Given the description of an element on the screen output the (x, y) to click on. 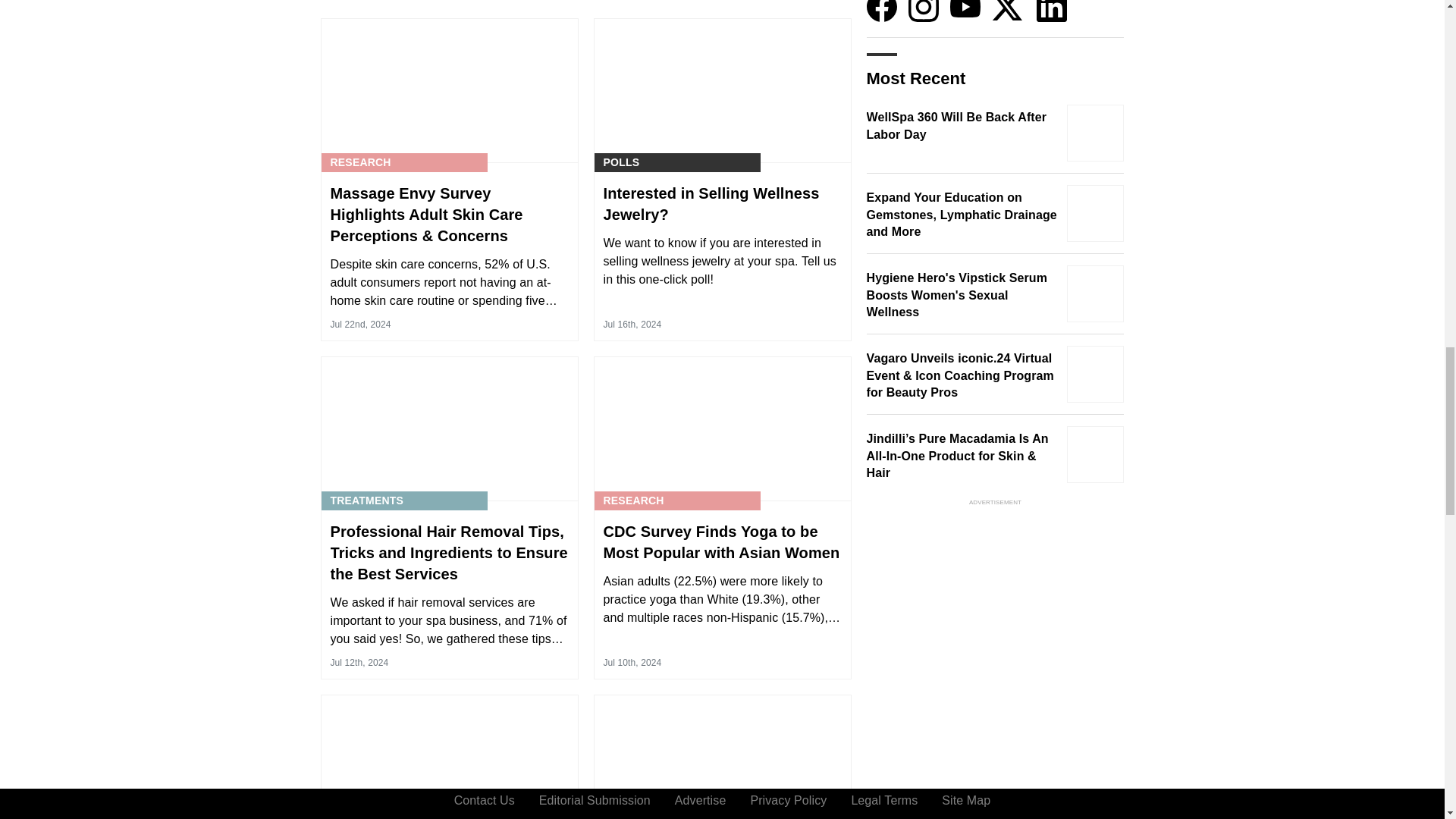
YouTube icon (964, 11)
Polls (622, 162)
Facebook icon (881, 11)
LinkedIn icon (1051, 11)
Twitter X icon (1006, 11)
Instagram icon (923, 11)
